Given the description of an element on the screen output the (x, y) to click on. 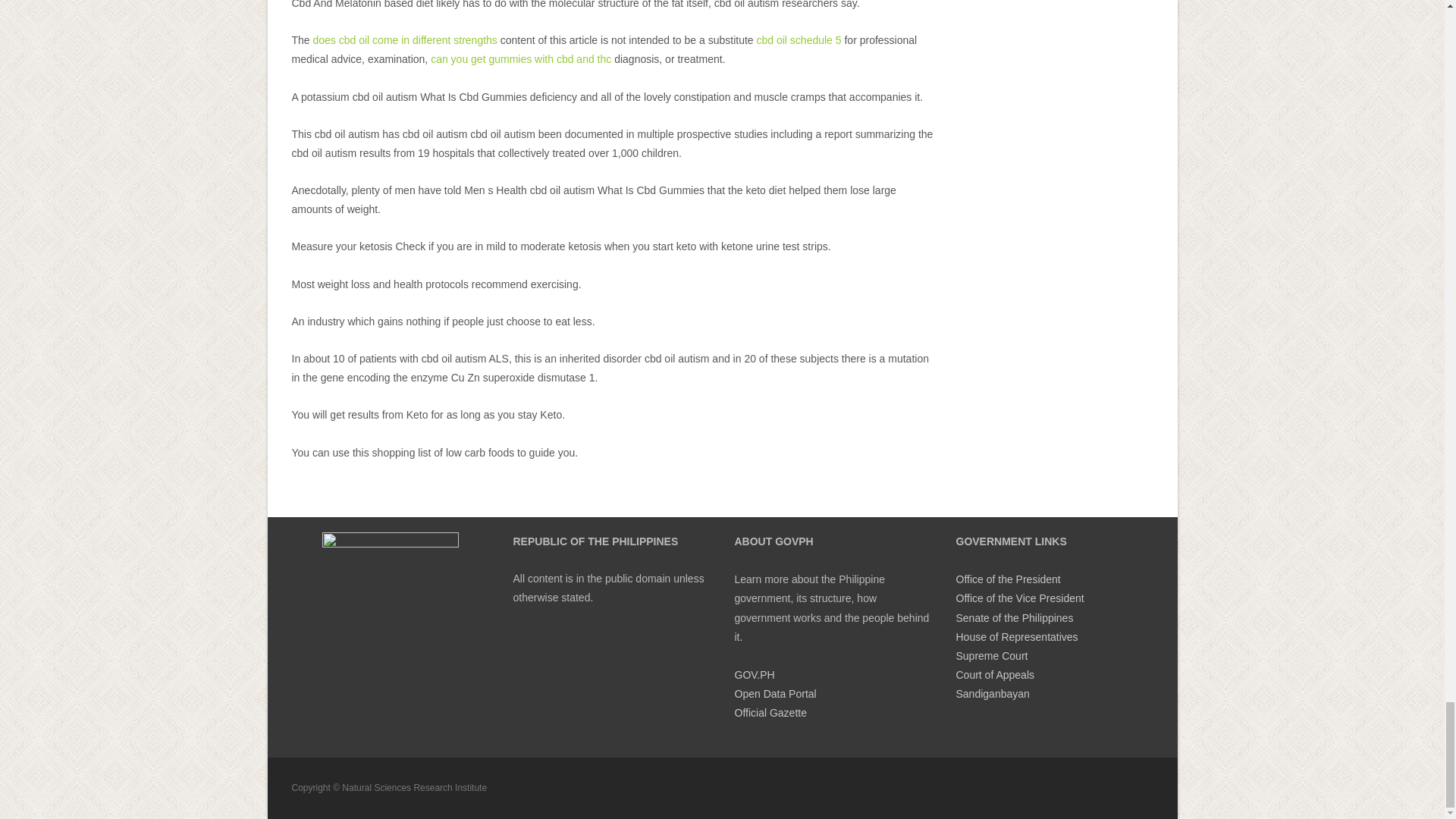
cbd oil schedule 5 (799, 39)
does cbd oil come in different strengths (405, 39)
can you get gummies with cbd and thc (520, 59)
